Given the description of an element on the screen output the (x, y) to click on. 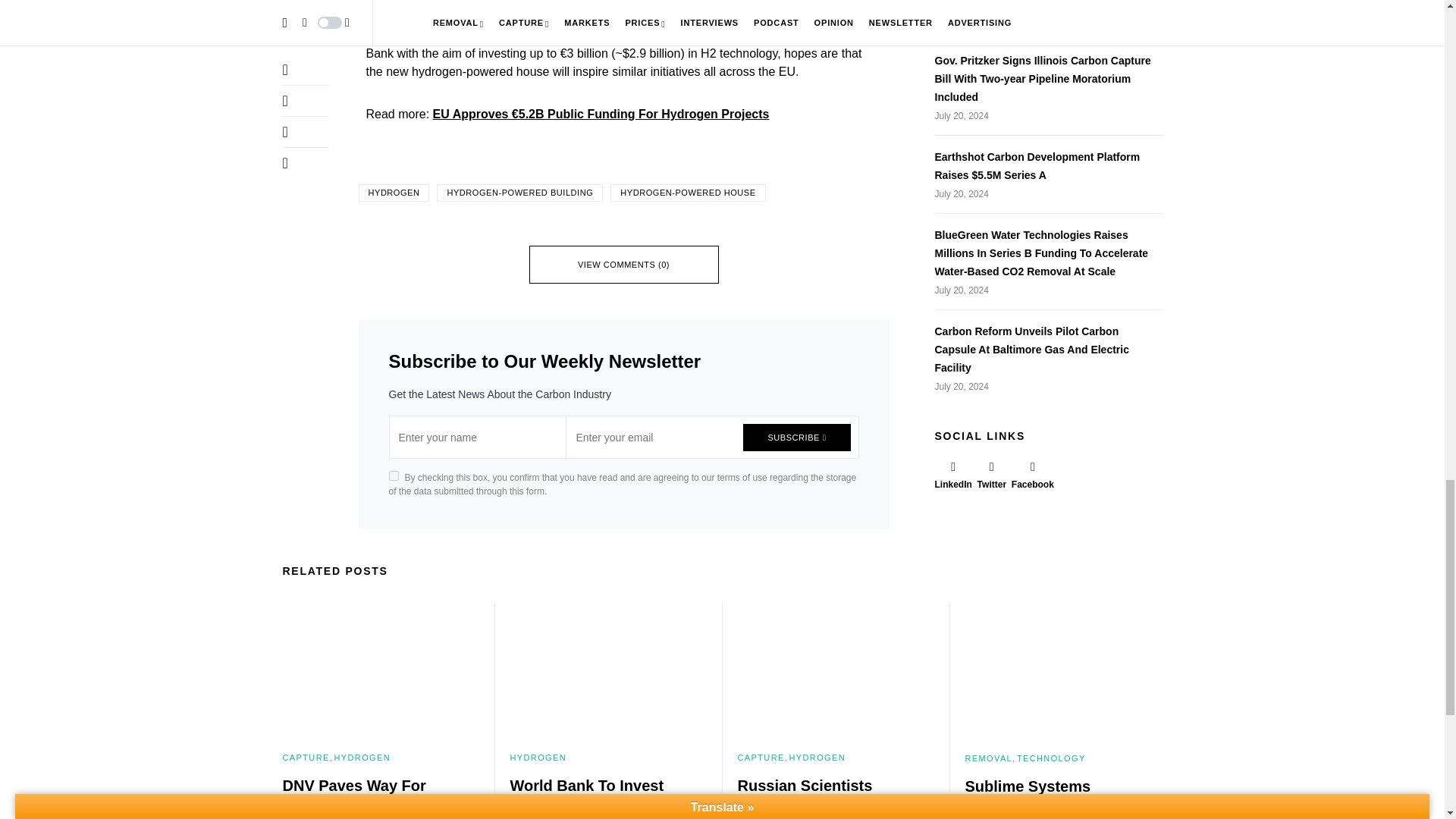
on (392, 475)
